Given the description of an element on the screen output the (x, y) to click on. 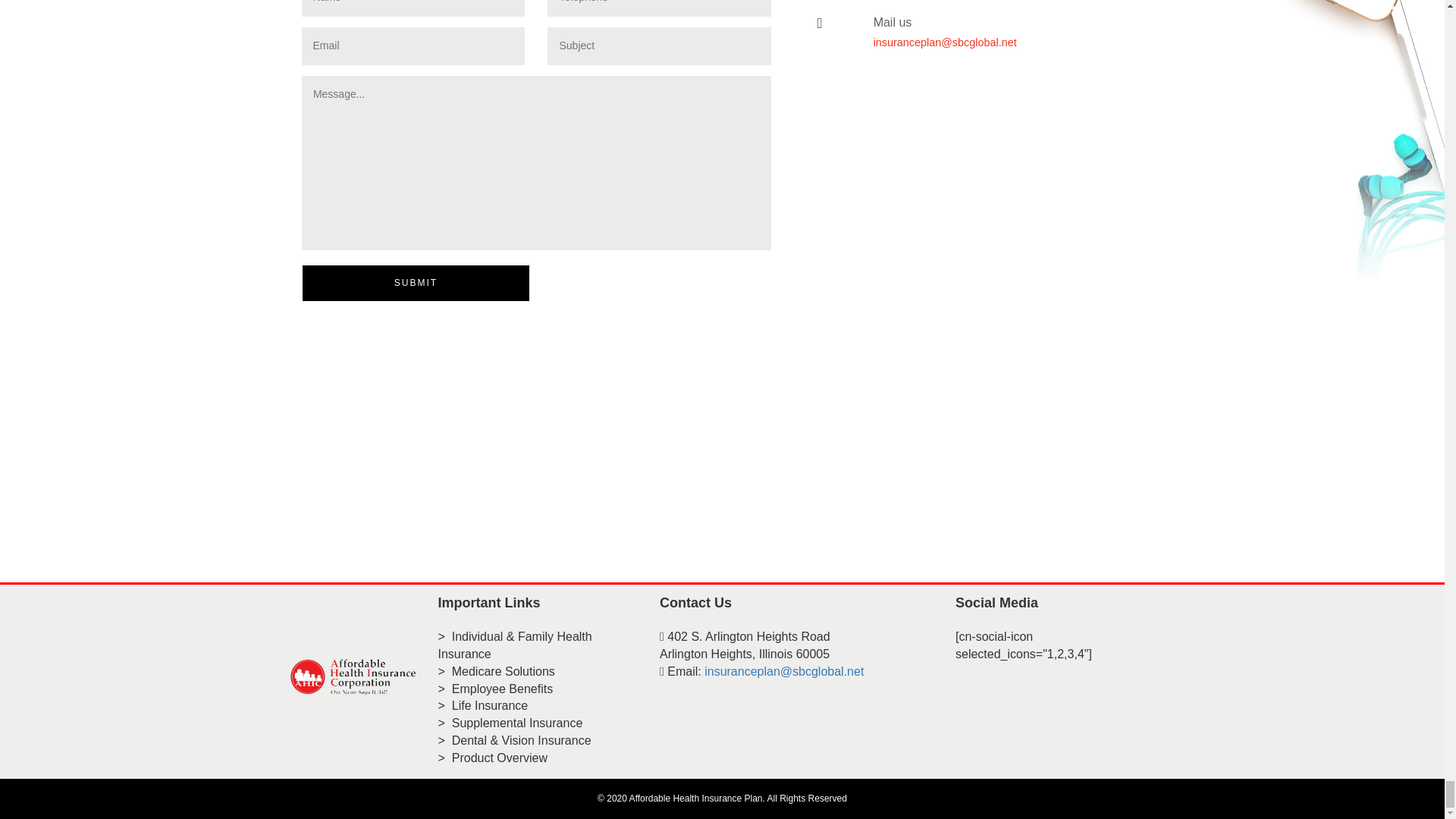
Submit (415, 283)
